Given the description of an element on the screen output the (x, y) to click on. 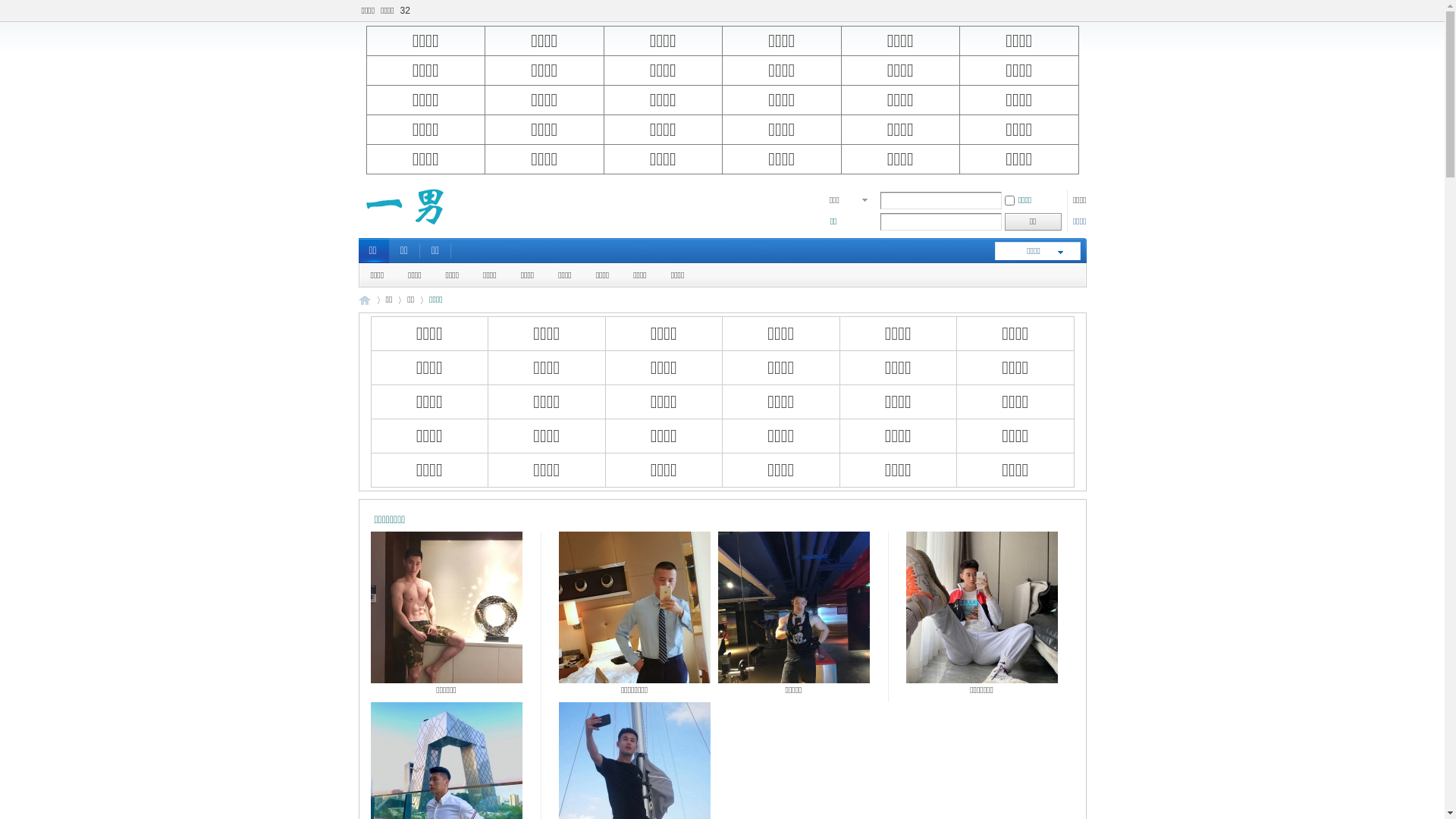
32 Element type: text (405, 10)
